Given the description of an element on the screen output the (x, y) to click on. 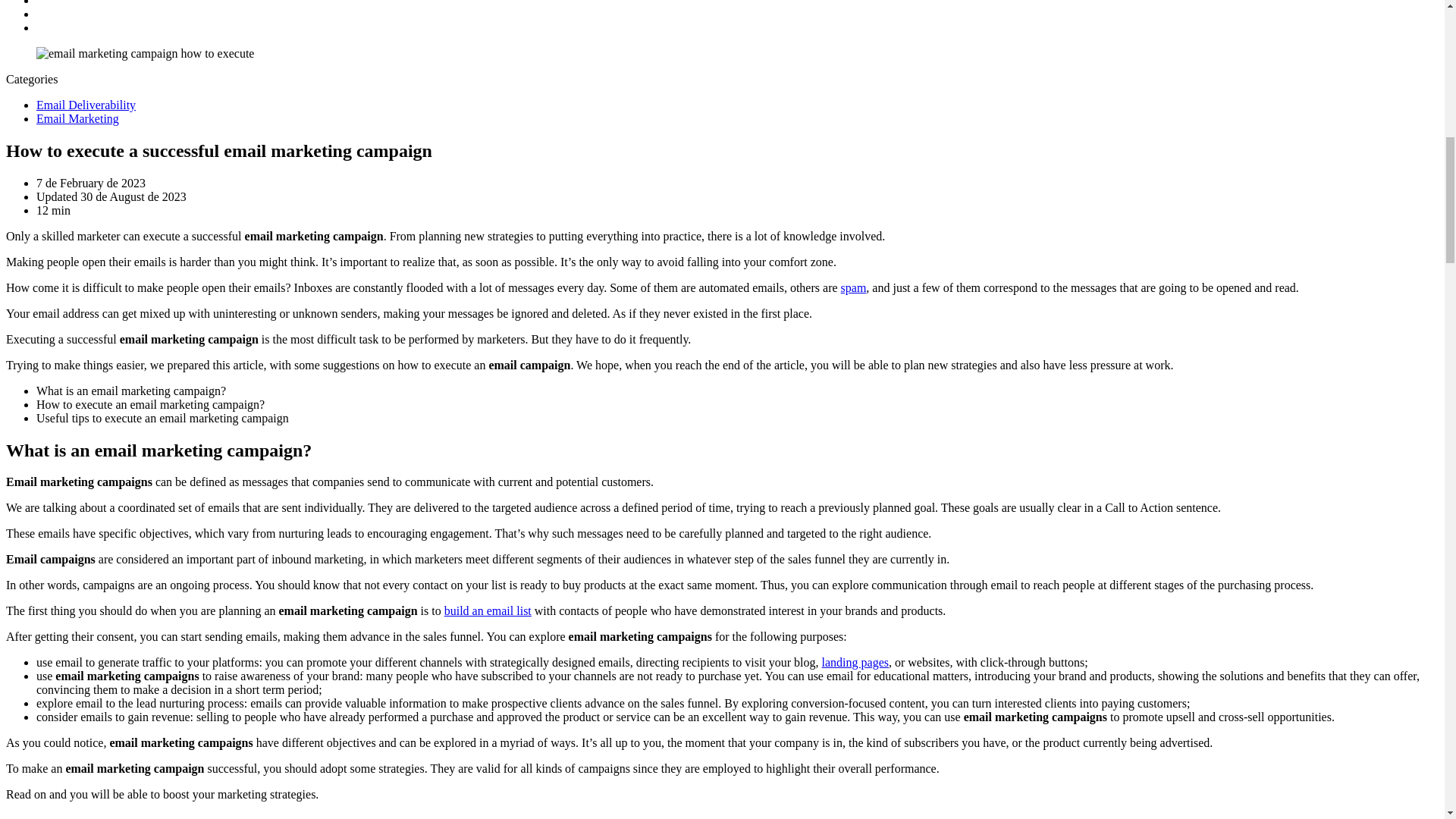
spam (853, 287)
build an email list (487, 610)
Email Marketing (77, 118)
landing pages (855, 662)
Email Deliverability (85, 104)
